Given the description of an element on the screen output the (x, y) to click on. 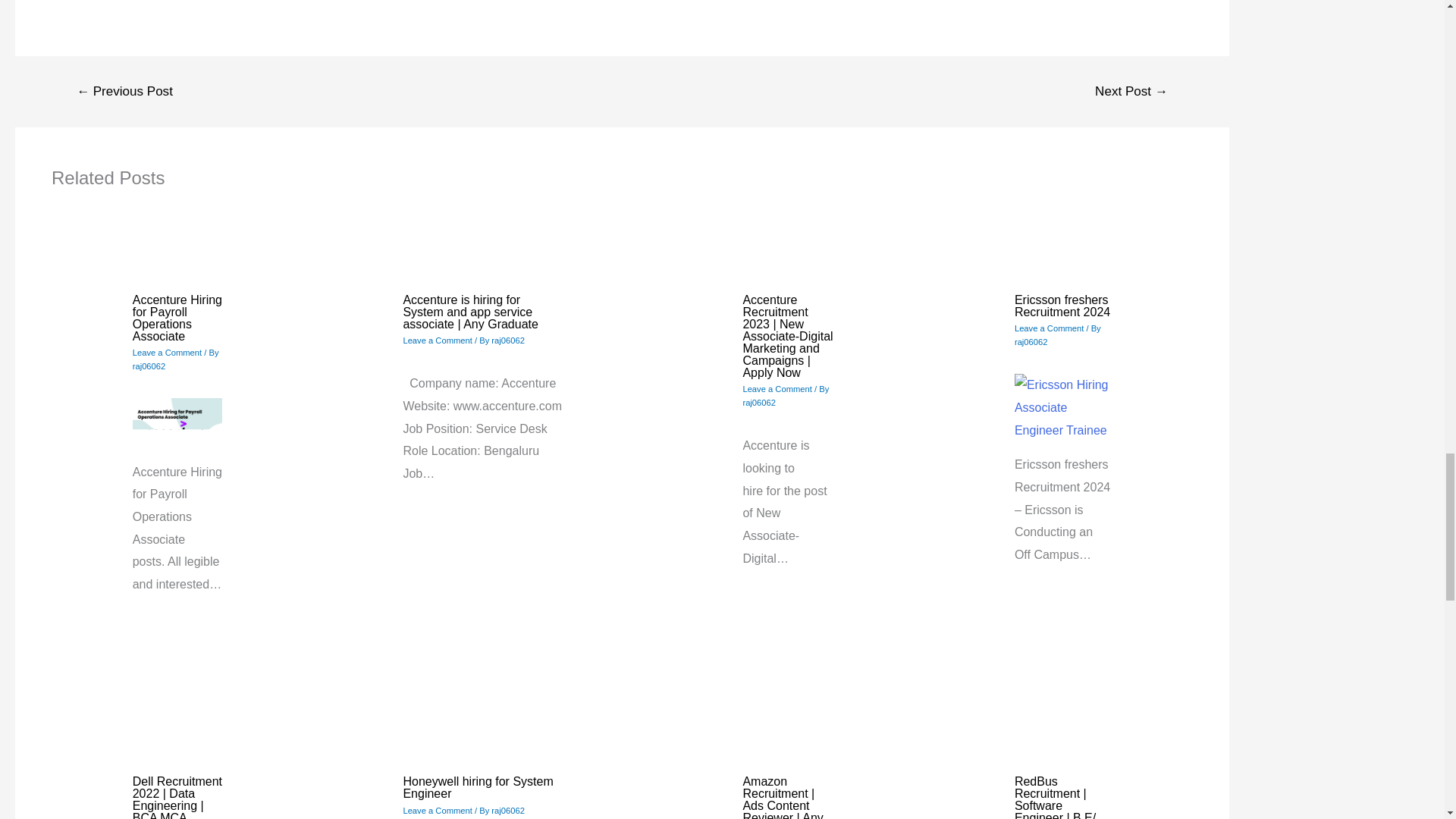
Ericsson freshers Recruitment 2024 (1061, 305)
Ericsson freshers Recruitment 2024 6 (1063, 407)
Accenture Hiring for Payroll Operations Associate (177, 318)
Leave a Comment (776, 388)
Leave a Comment (167, 352)
raj06062 (508, 339)
View all posts by raj06062 (759, 402)
raj06062 (759, 402)
Leave a Comment (437, 339)
View all posts by raj06062 (1031, 341)
